Given the description of an element on the screen output the (x, y) to click on. 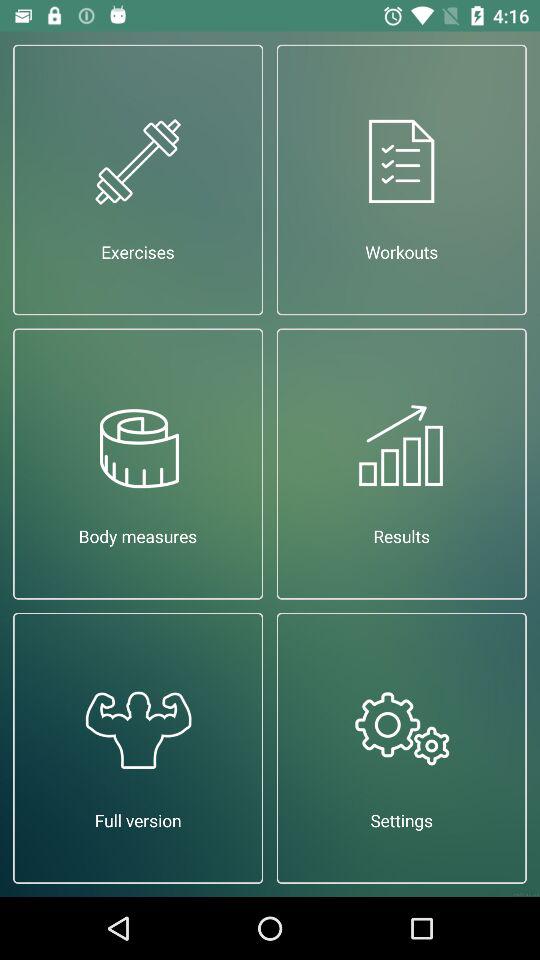
turn on the item to the right of full version icon (401, 748)
